Given the description of an element on the screen output the (x, y) to click on. 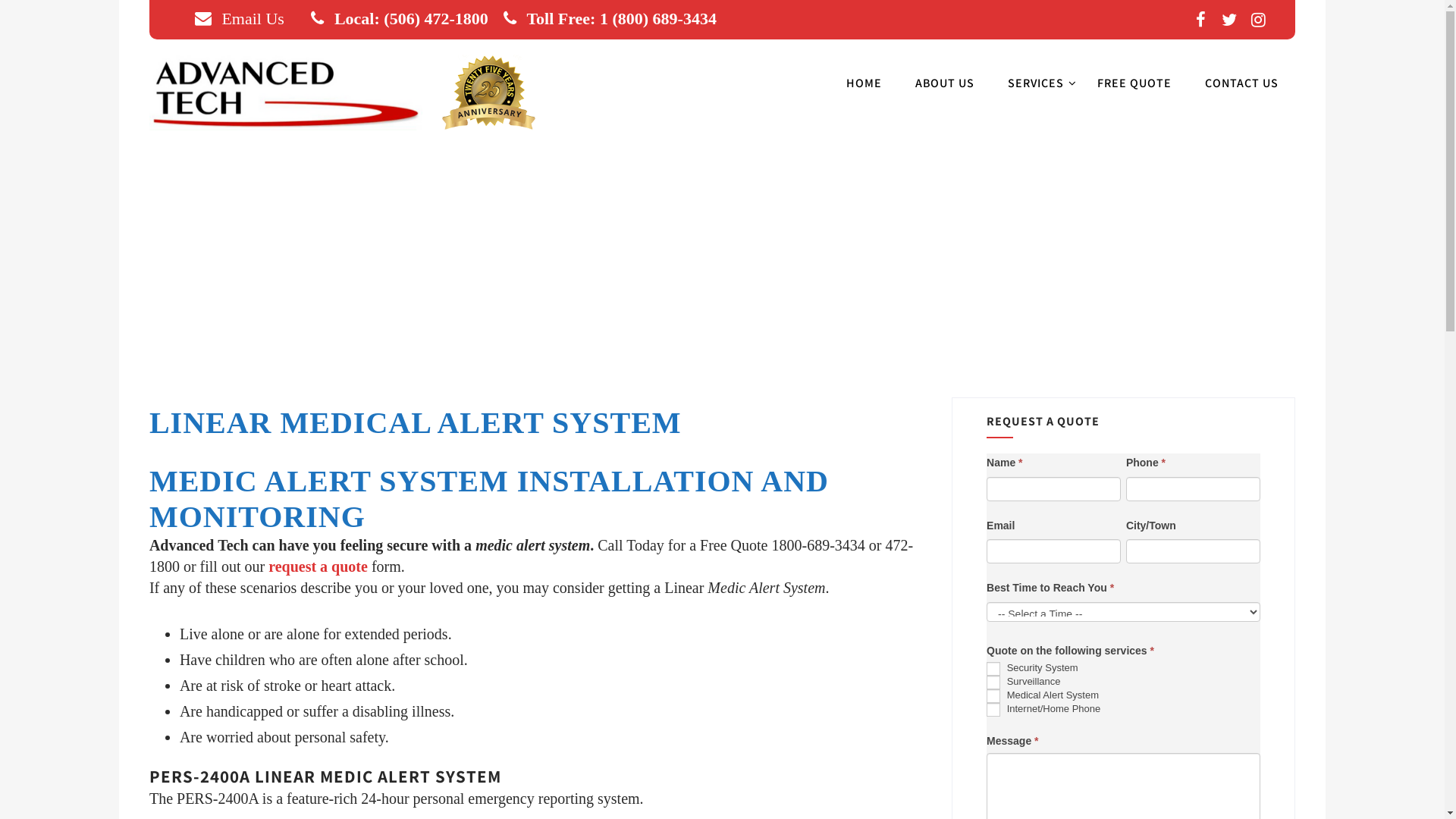
request a quote Element type: text (317, 566)
FREE QUOTE Element type: text (1134, 88)
ABOUT US Element type: text (944, 88)
SERVICES Element type: text (1035, 88)
CONTACT US Element type: text (1241, 88)
facebook Element type: hover (1200, 19)
HOME Element type: text (863, 88)
Email Us Element type: text (239, 18)
Advanced Tech Element type: hover (348, 132)
instagram Element type: hover (1257, 19)
twitter Element type: hover (1229, 19)
